Given the description of an element on the screen output the (x, y) to click on. 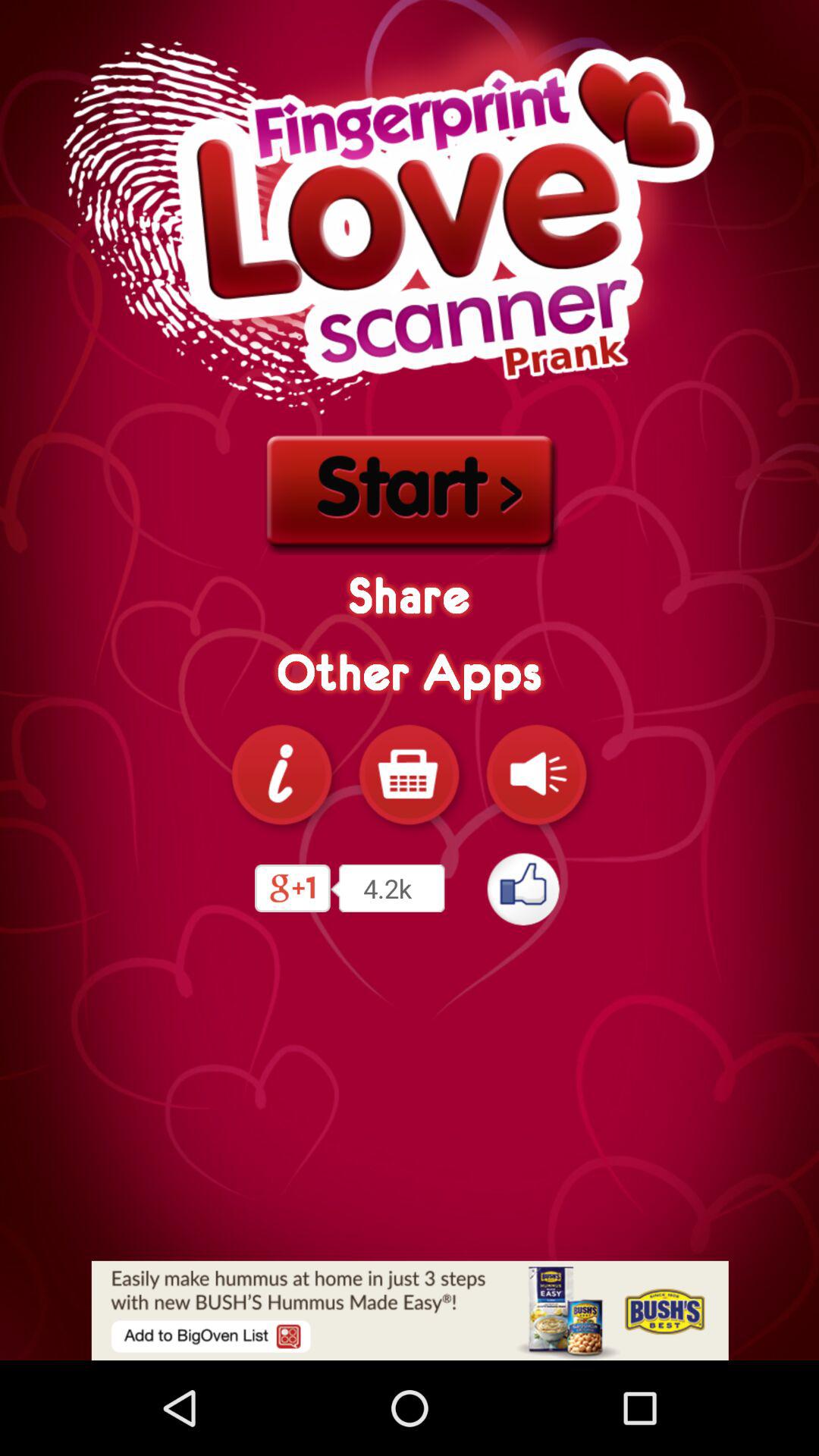
thumbs up (524, 888)
